Given the description of an element on the screen output the (x, y) to click on. 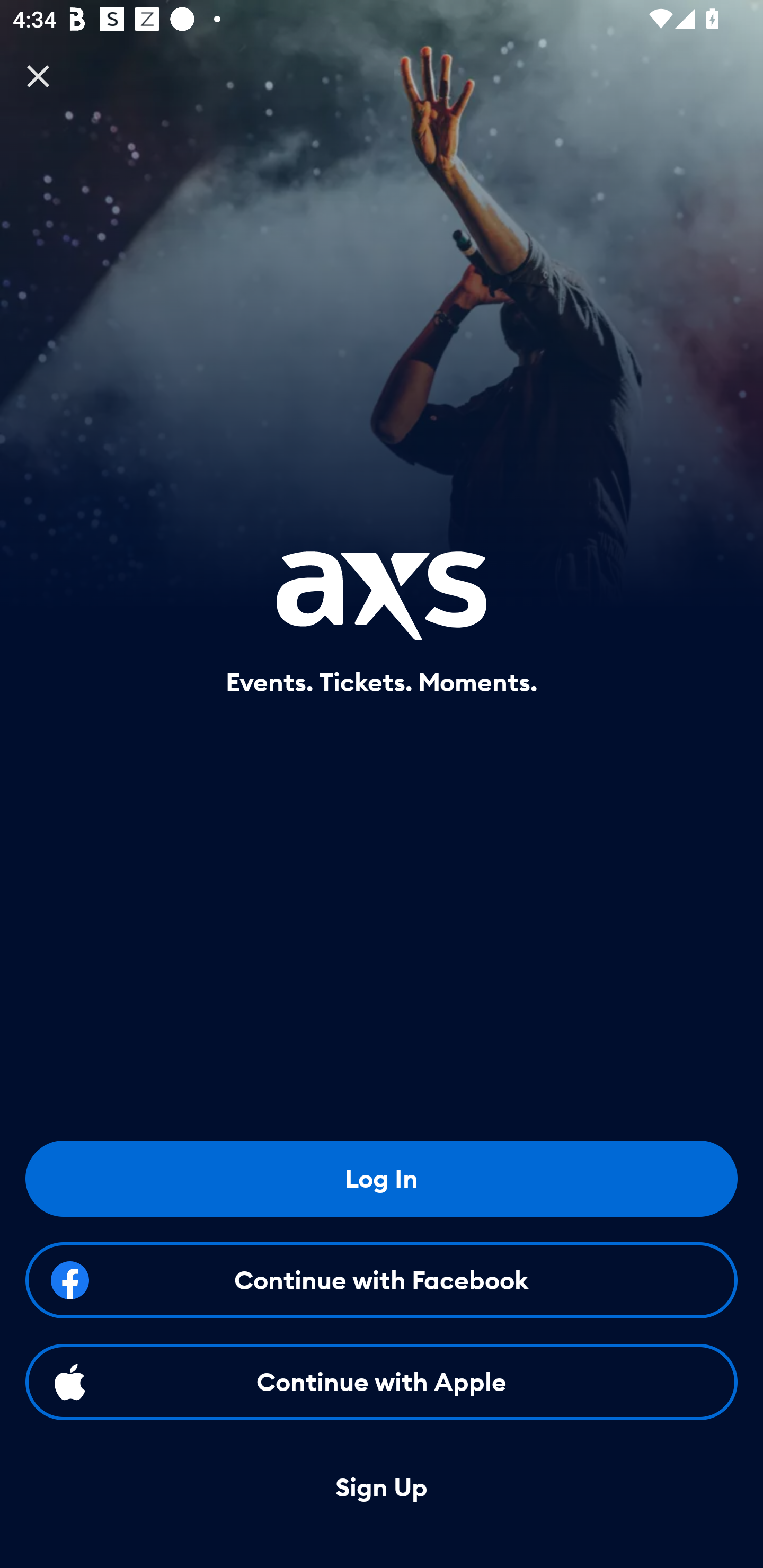
Log In (381, 1177)
Continue with Facebook (381, 1279)
Continue with Apple (381, 1381)
Sign Up (381, 1487)
